Given the description of an element on the screen output the (x, y) to click on. 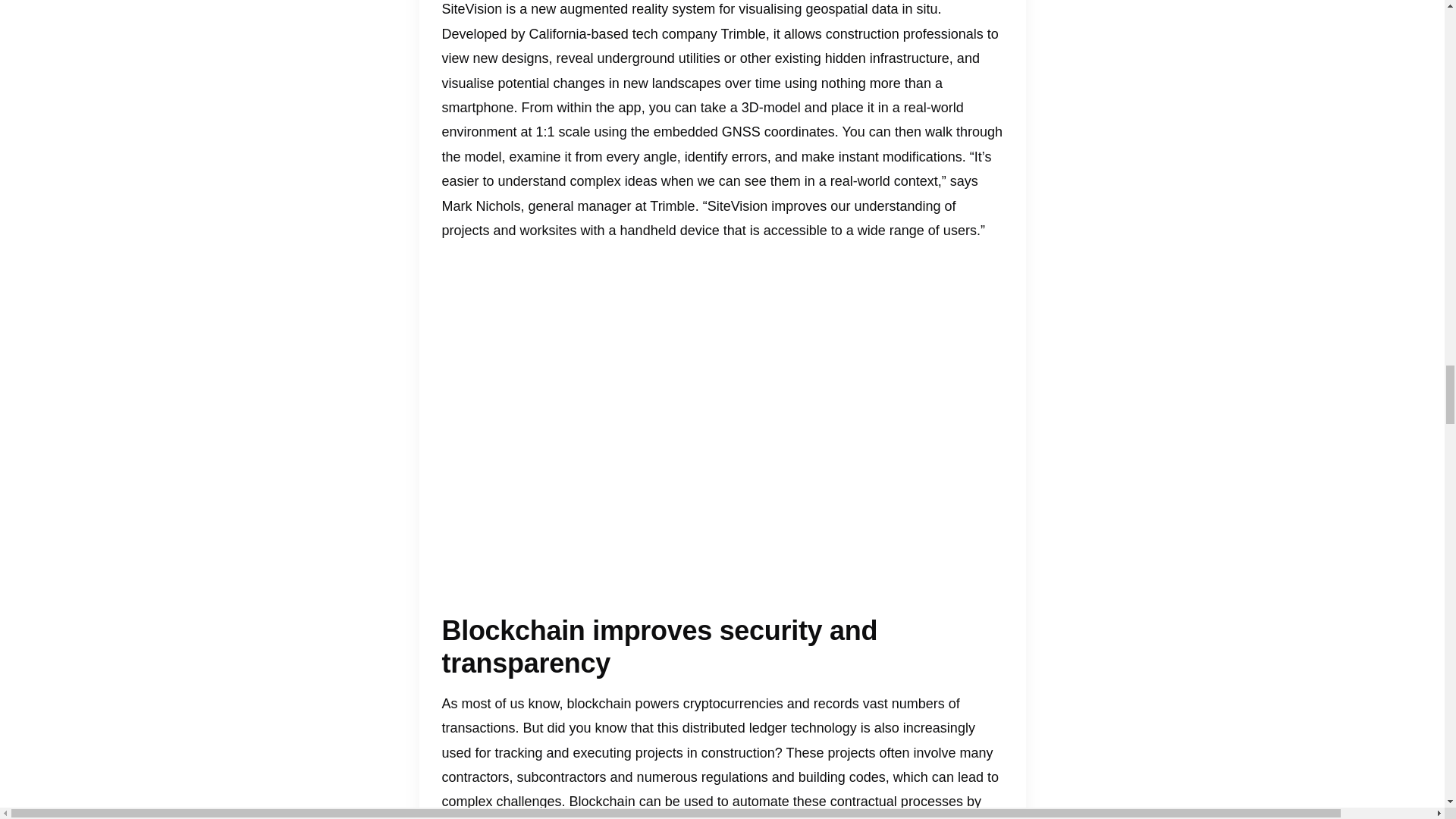
Developed (473, 33)
says (964, 181)
